Given the description of an element on the screen output the (x, y) to click on. 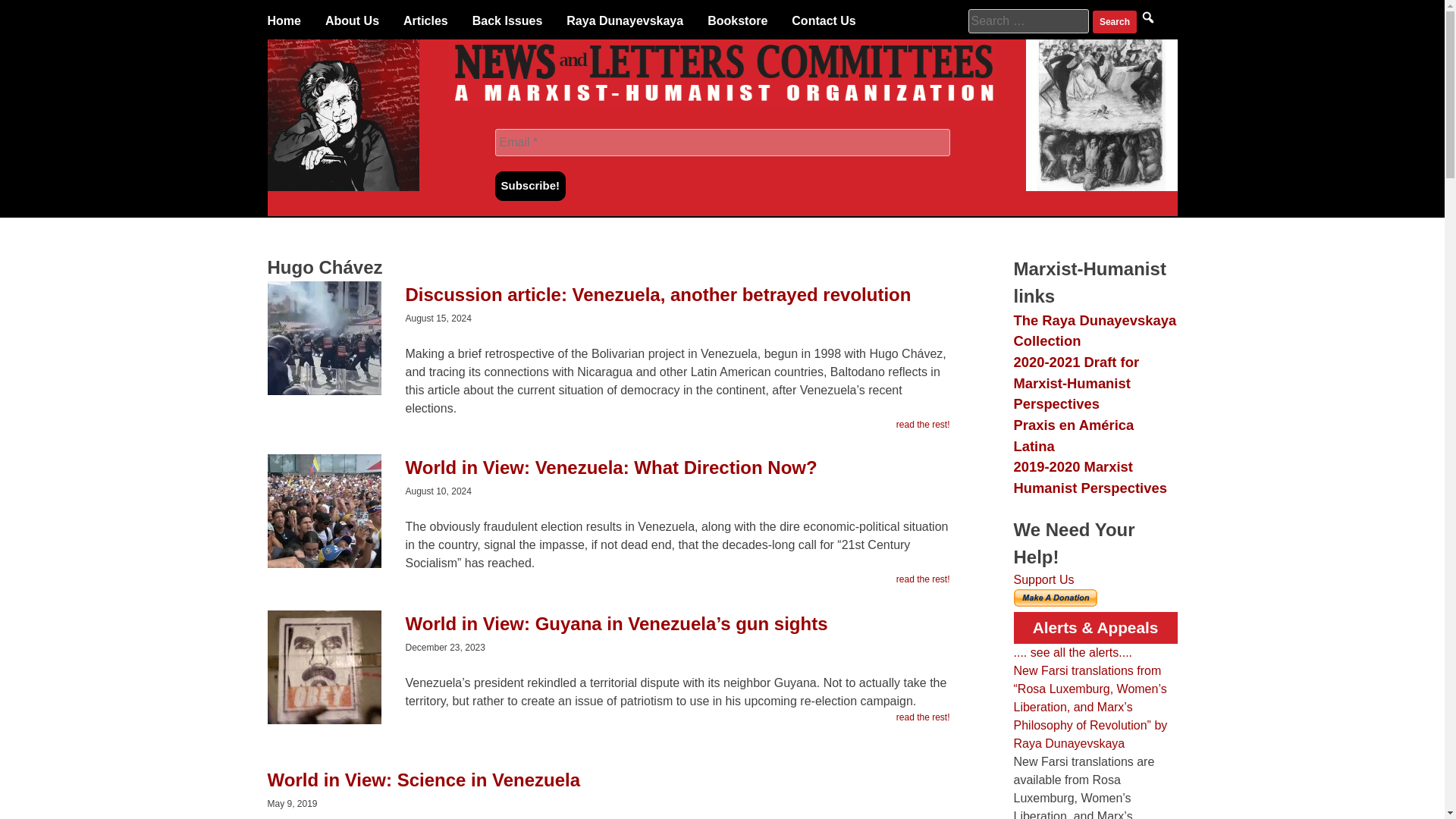
Back Issues (507, 21)
Subscribe! (530, 185)
World in View: Science in Venezuela (607, 787)
Raya Dunayevskaya (624, 21)
Bookstore (737, 21)
Subscribe! (530, 185)
Search (1115, 21)
Discussion article: Venezuela, another betrayed revolution (607, 302)
read the rest! (923, 579)
